Given the description of an element on the screen output the (x, y) to click on. 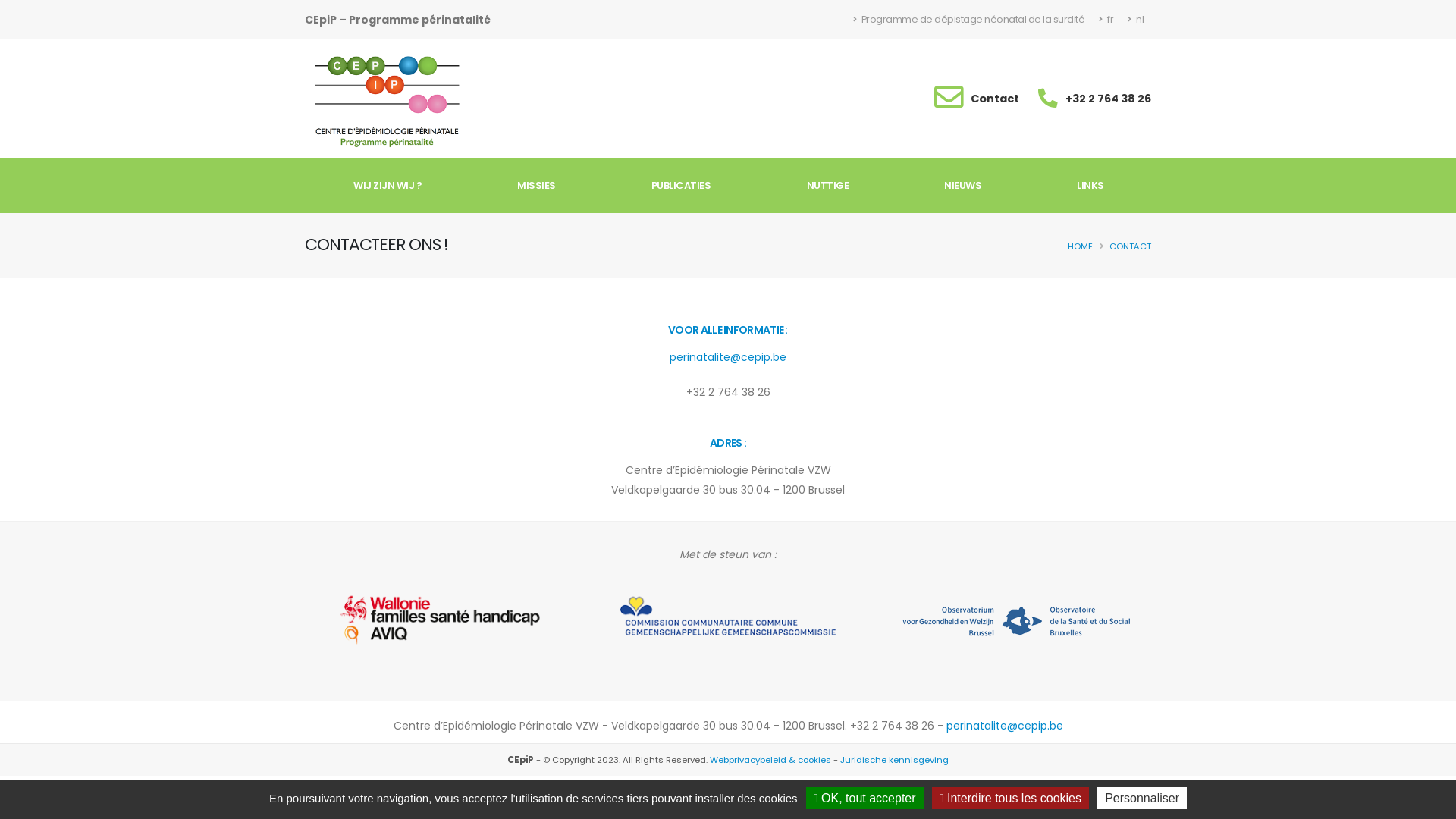
perinatalite@cepip.be Element type: text (1004, 725)
+32 2 764 38 26 Element type: text (1108, 98)
Webprivacybeleid & cookies Element type: text (770, 759)
LINKS Element type: text (1090, 185)
NIEUWS Element type: text (962, 185)
Contact Element type: text (994, 98)
PUBLICATIES Element type: text (681, 185)
fr Element type: text (1106, 19)
WIJ ZIJN WIJ ? Element type: text (387, 185)
Juridische kennisgeving Element type: text (894, 759)
perinatalite@cepip.be Element type: text (727, 356)
nl Element type: text (1135, 19)
Personnaliser Element type: text (1141, 798)
MISSIES Element type: text (536, 185)
NUTTIGE Element type: text (827, 185)
OK, tout accepter Element type: text (864, 798)
Interdire tous les cookies Element type: text (1009, 798)
HOME Element type: text (1079, 246)
CONTACT Element type: text (1130, 246)
